Given the description of an element on the screen output the (x, y) to click on. 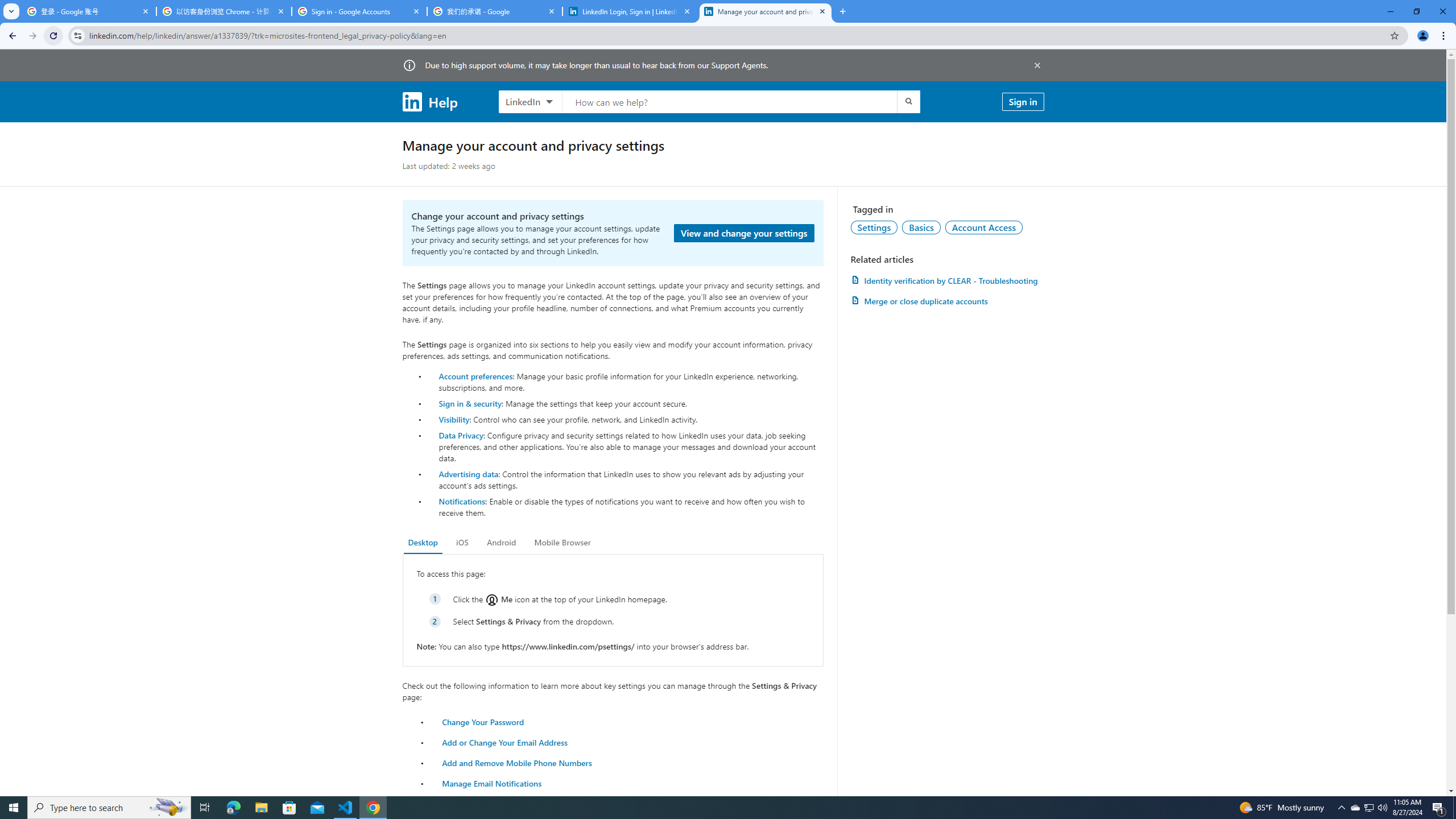
LinkedIn Login, Sign in | LinkedIn (630, 11)
Data Privacy (460, 434)
Desktop (422, 542)
Settings (874, 227)
Notifications (461, 500)
Help (429, 101)
